Given the description of an element on the screen output the (x, y) to click on. 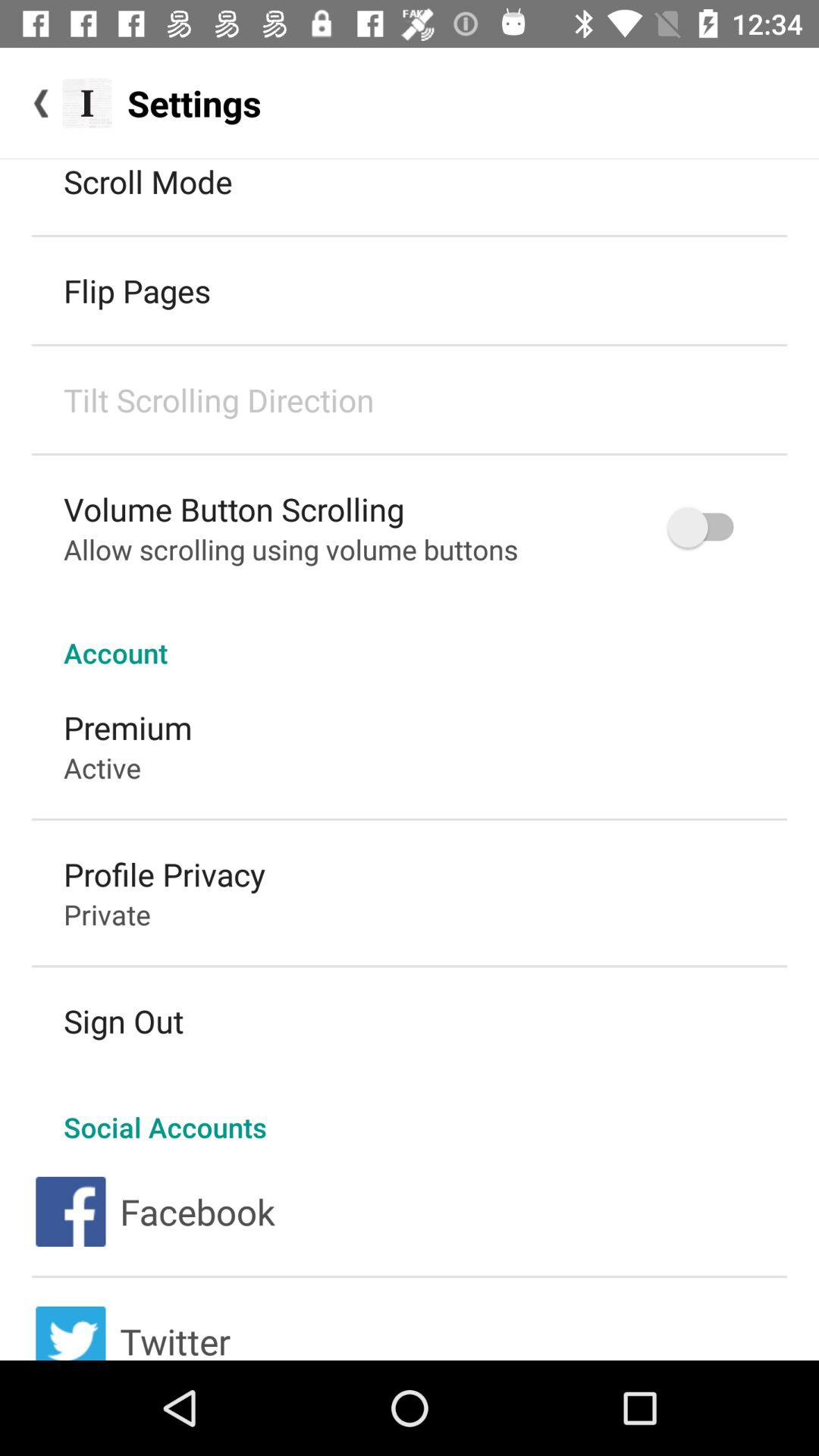
click item to the right of the allow scrolling using item (707, 527)
